Given the description of an element on the screen output the (x, y) to click on. 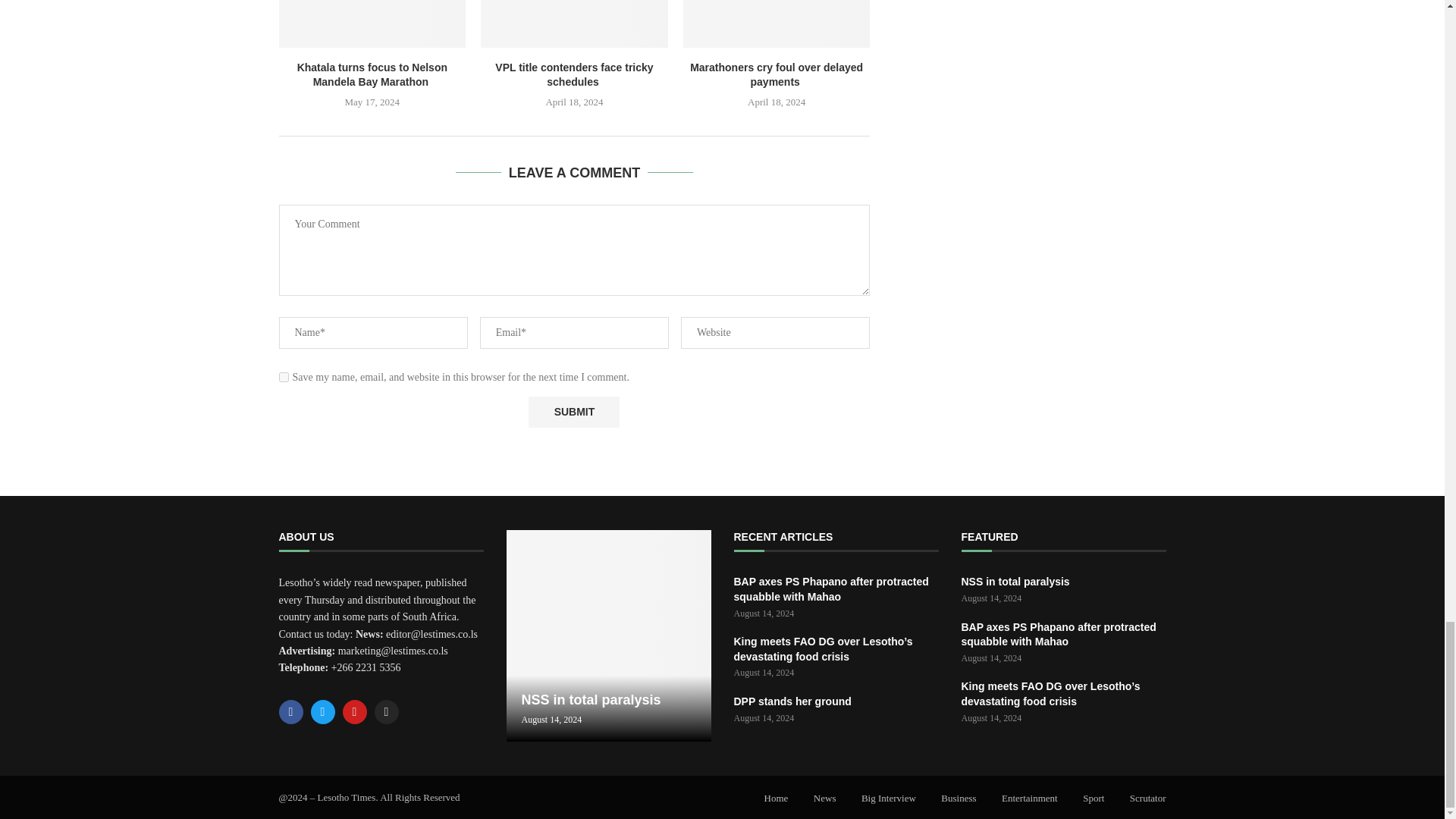
yes (283, 377)
Submit (574, 411)
